Given the description of an element on the screen output the (x, y) to click on. 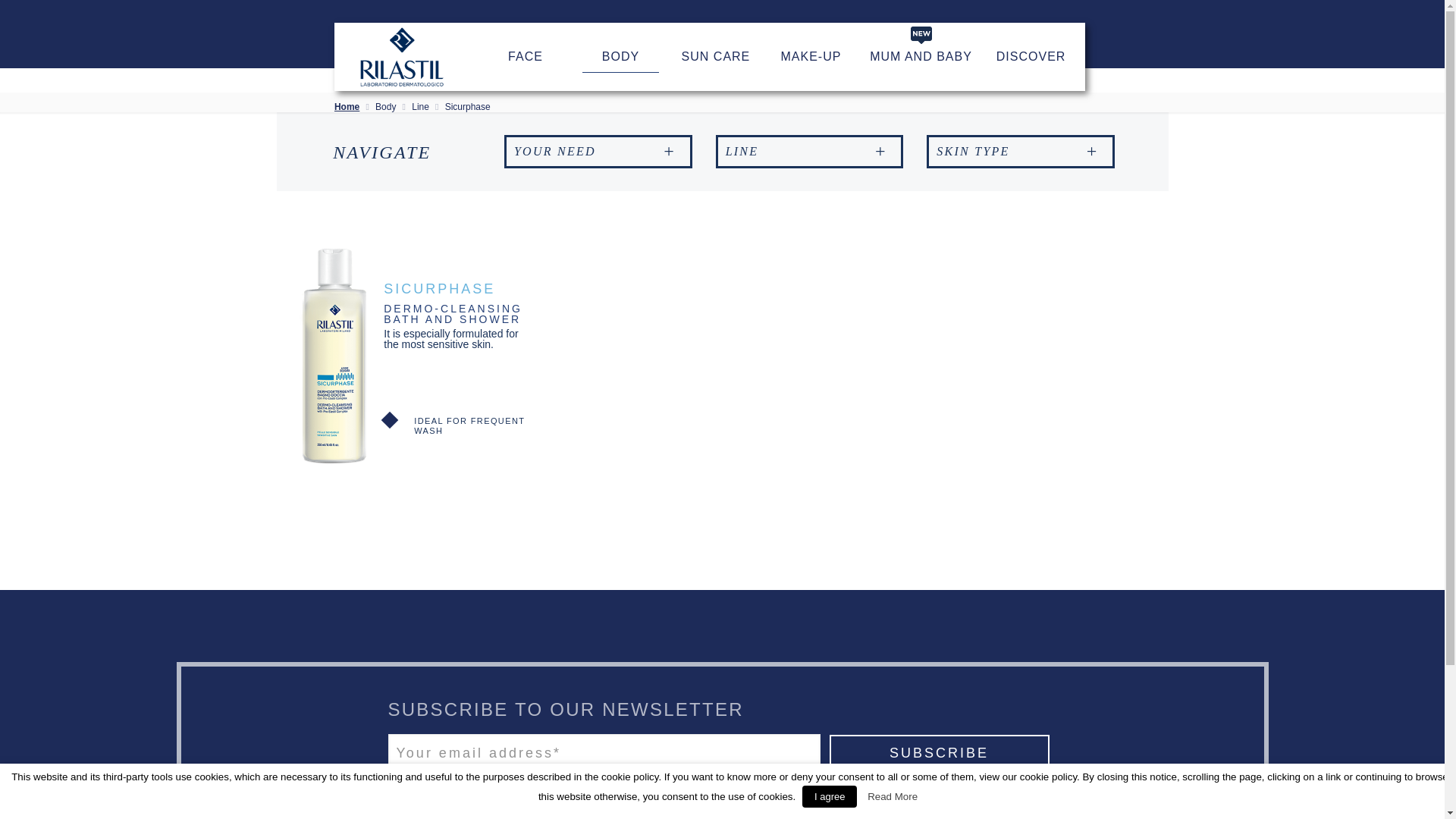
Rilastil (401, 55)
yes (399, 794)
FACE (524, 56)
